Given the description of an element on the screen output the (x, y) to click on. 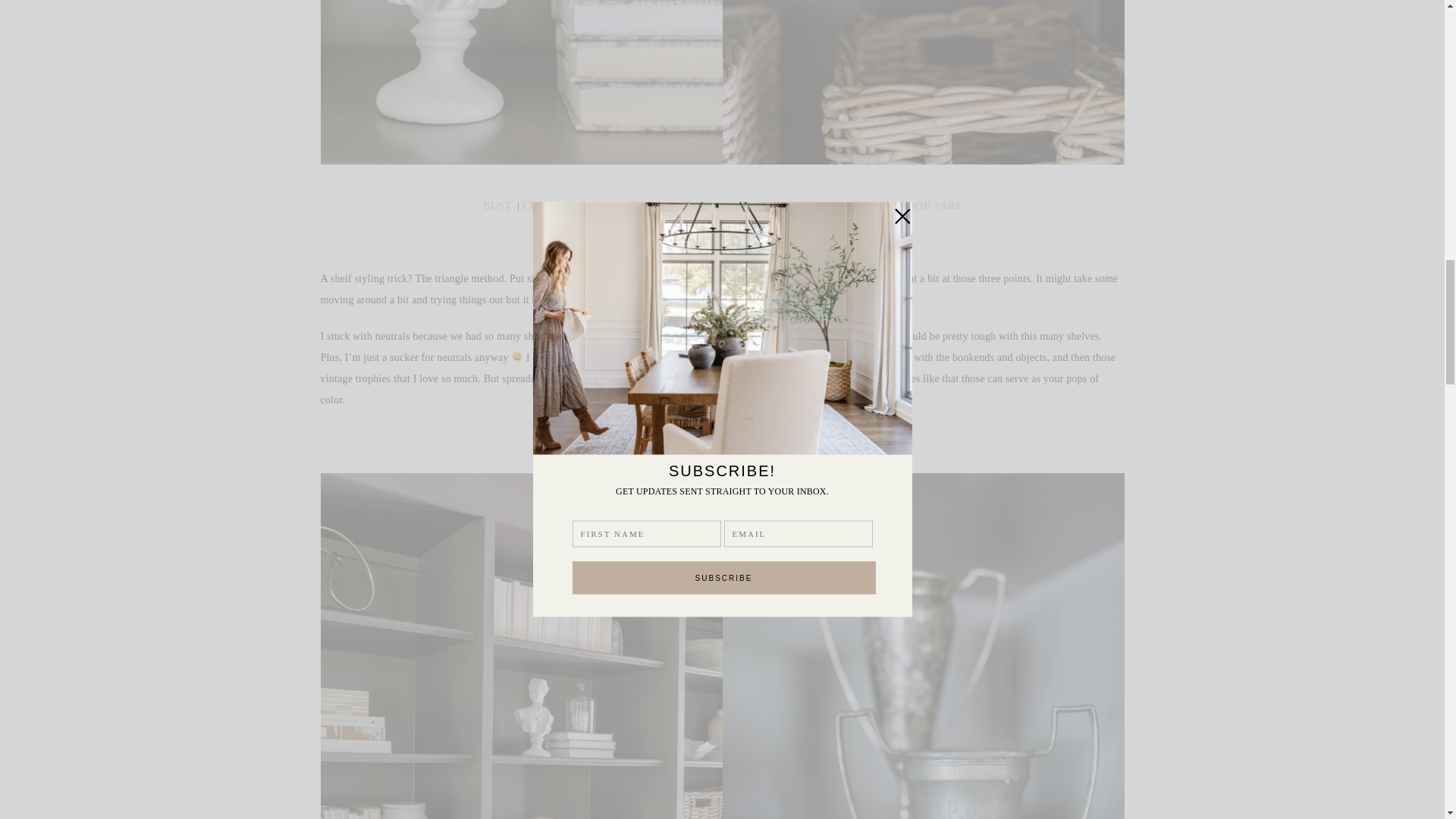
LIVE BEAUTIFUL (724, 205)
BUST (497, 205)
CLOCHE (545, 205)
SIMILAR WOOD JARS (902, 205)
EAT DRINK NAP (622, 205)
BASKETS (806, 205)
